Given the description of an element on the screen output the (x, y) to click on. 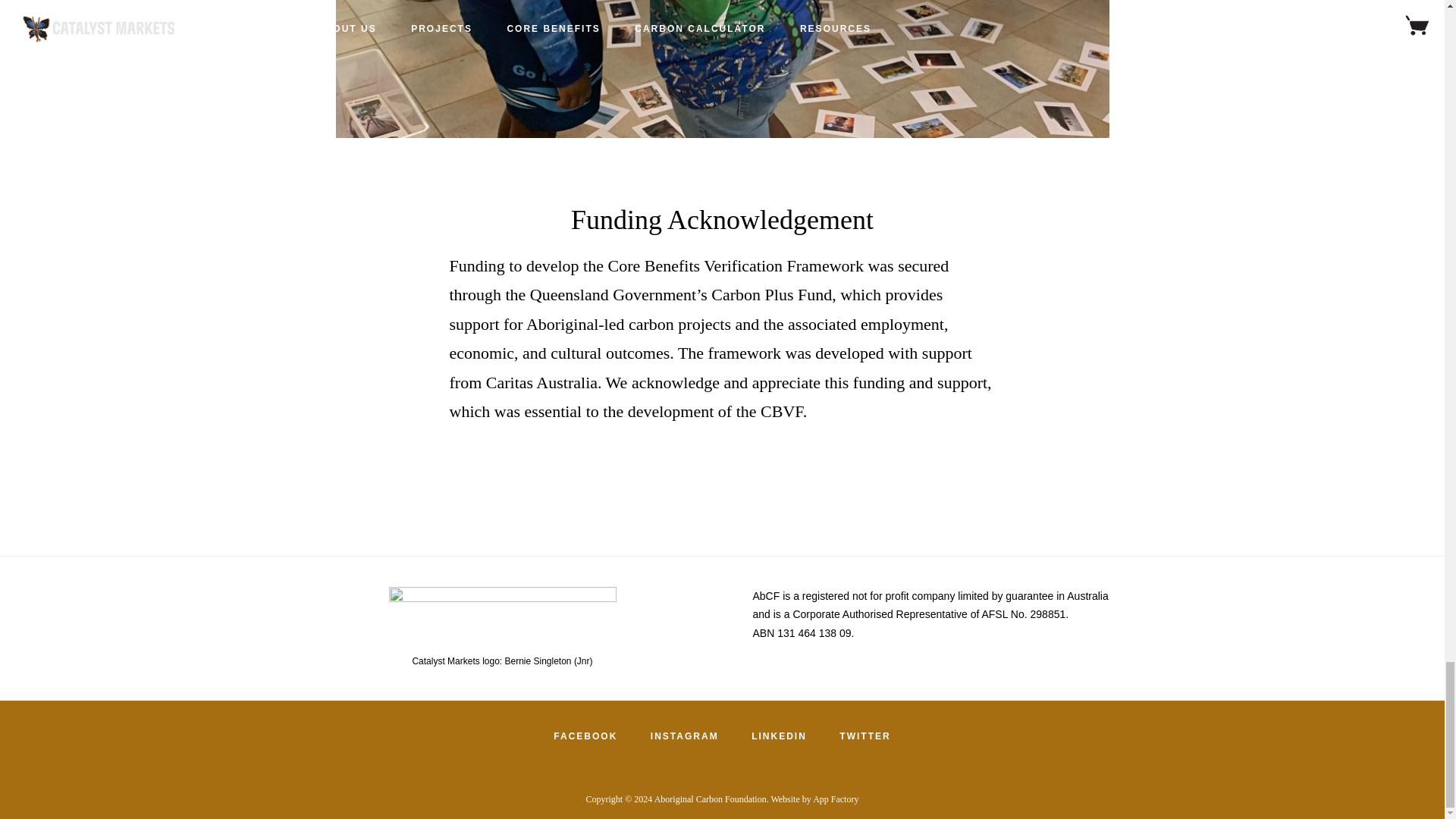
TWITTER (864, 736)
FACEBOOK (584, 736)
Page 5 (941, 614)
App Factory (835, 798)
LINKEDIN (779, 736)
INSTAGRAM (683, 736)
